Given the description of an element on the screen output the (x, y) to click on. 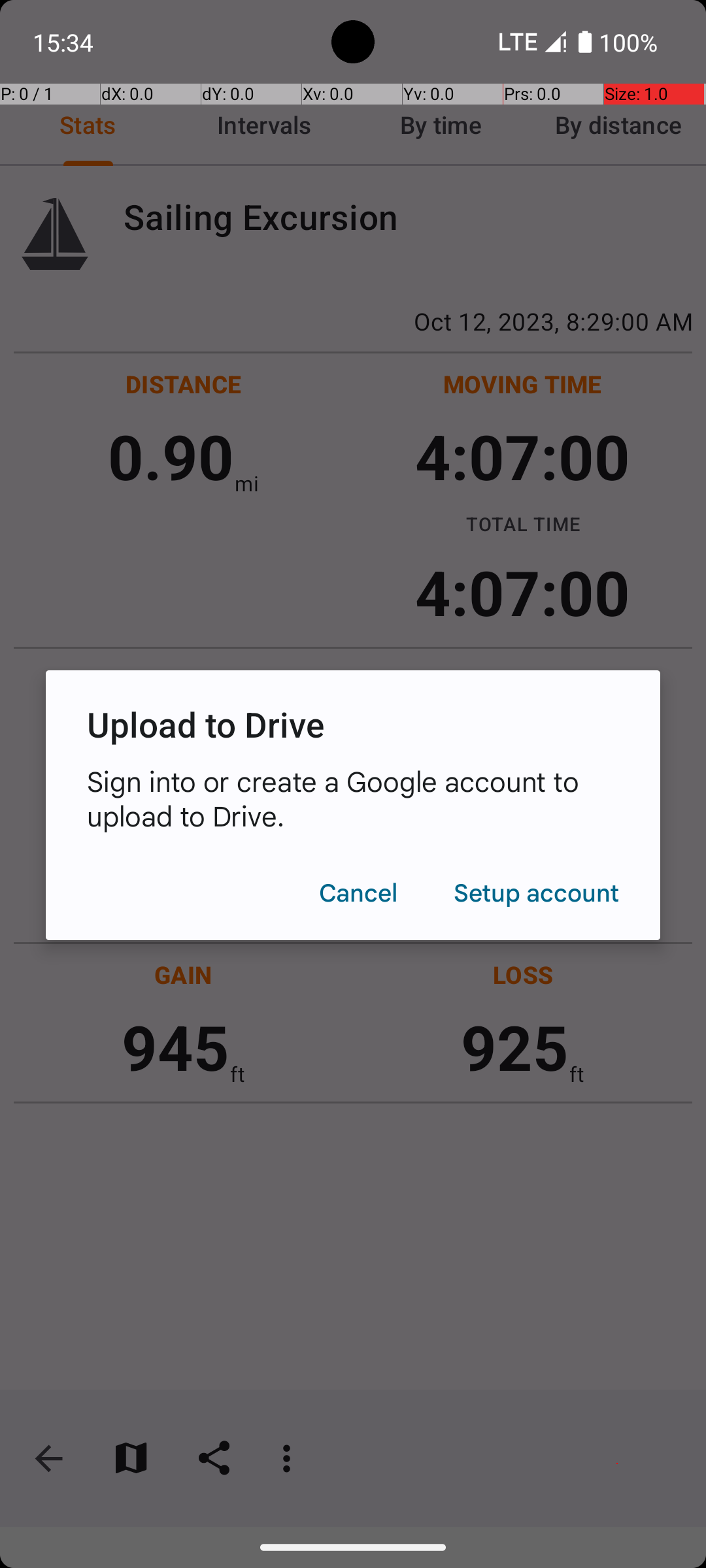
Upload to Drive Element type: android.widget.TextView (352, 724)
Sign into or create a Google account to upload to Drive. Element type: android.widget.TextView (352, 797)
Setup account Element type: android.widget.Button (535, 891)
